Given the description of an element on the screen output the (x, y) to click on. 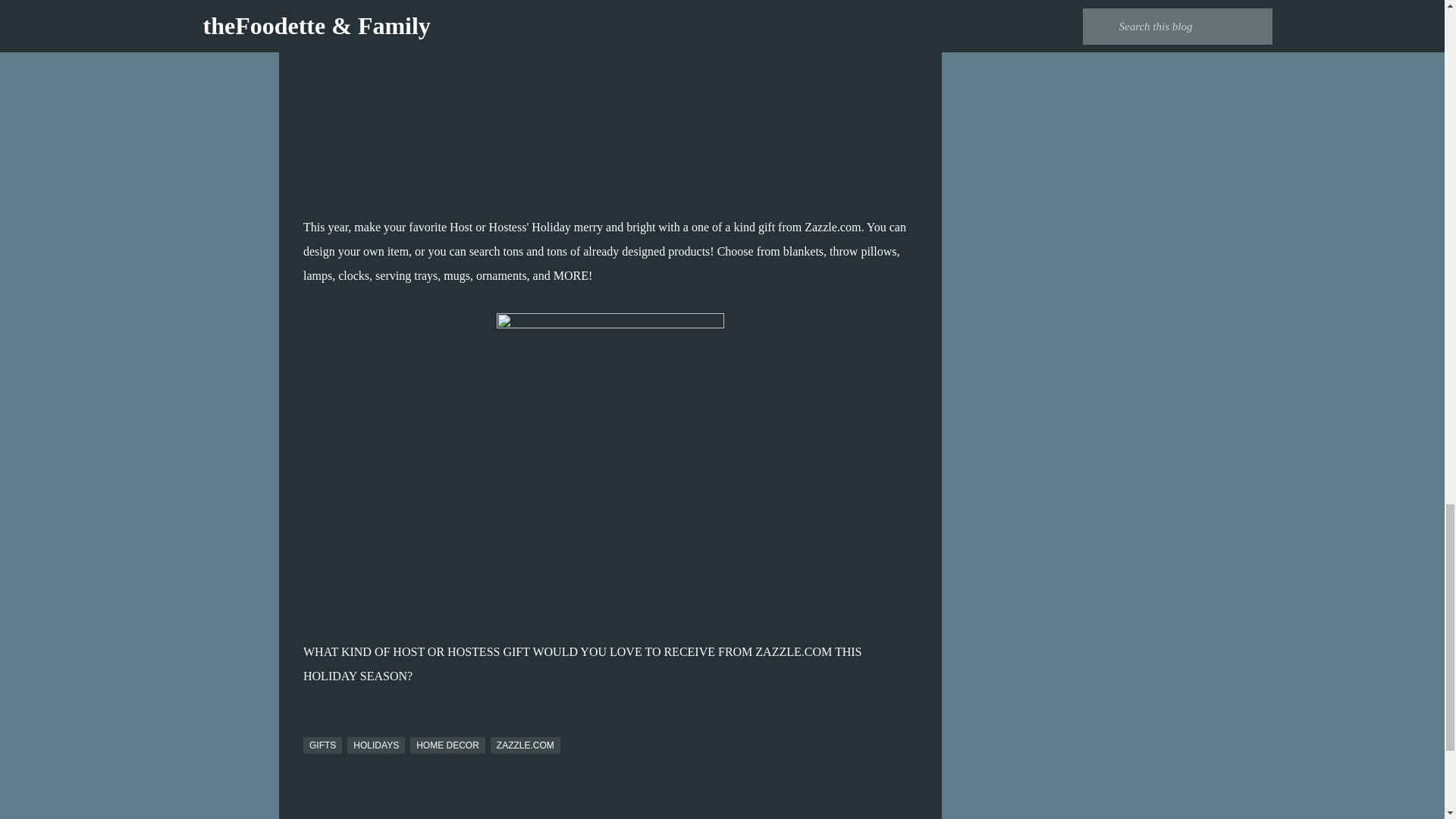
ZAZZLE.COM (525, 745)
HOME DECOR (447, 745)
ZAZZLE.COM (793, 651)
GIFTS (322, 745)
Zazzle.com (832, 226)
HOLIDAYS (375, 745)
Email Post (311, 727)
